Given the description of an element on the screen output the (x, y) to click on. 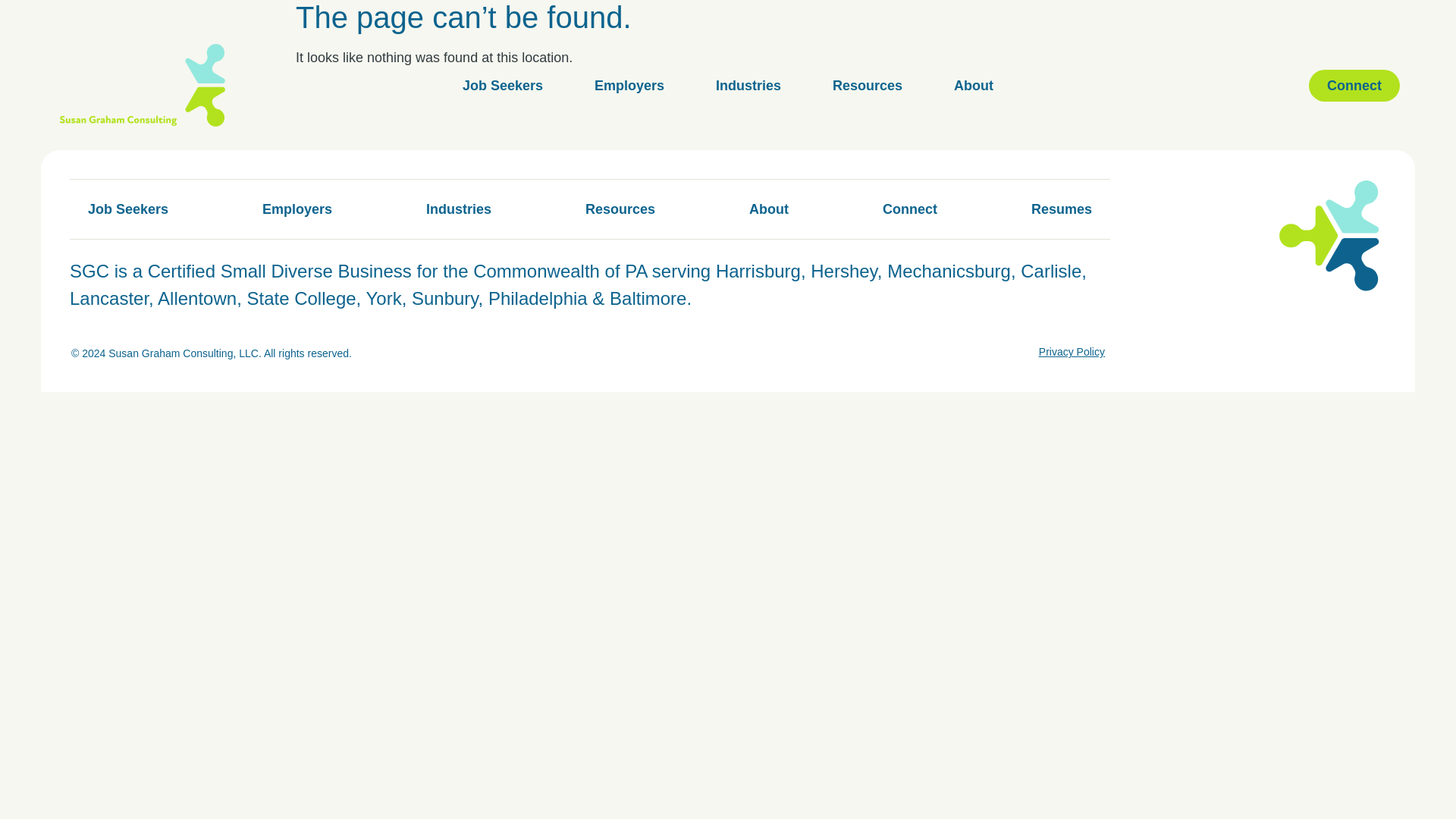
Industries (458, 209)
About (973, 85)
Employers (297, 209)
Resources (619, 209)
Resumes (1061, 209)
Privacy Policy (1071, 352)
Resources (867, 85)
Job Seekers (502, 85)
Employers (628, 85)
Industries (748, 85)
About (768, 209)
Connect (1353, 85)
Connect (909, 209)
Job Seekers (127, 209)
